Given the description of an element on the screen output the (x, y) to click on. 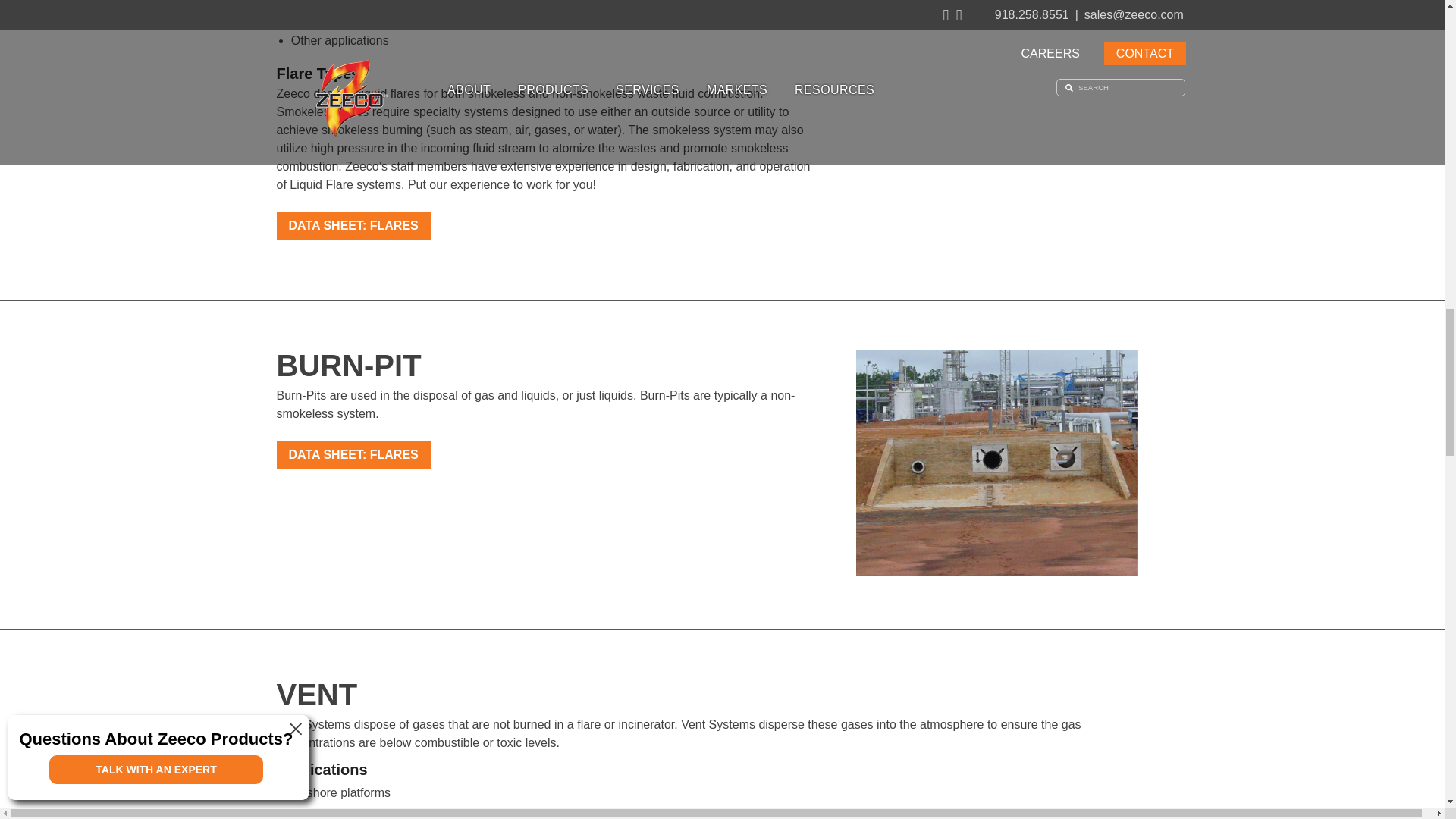
Burn-Pit (997, 463)
Liquid Flare (997, 3)
